Given the description of an element on the screen output the (x, y) to click on. 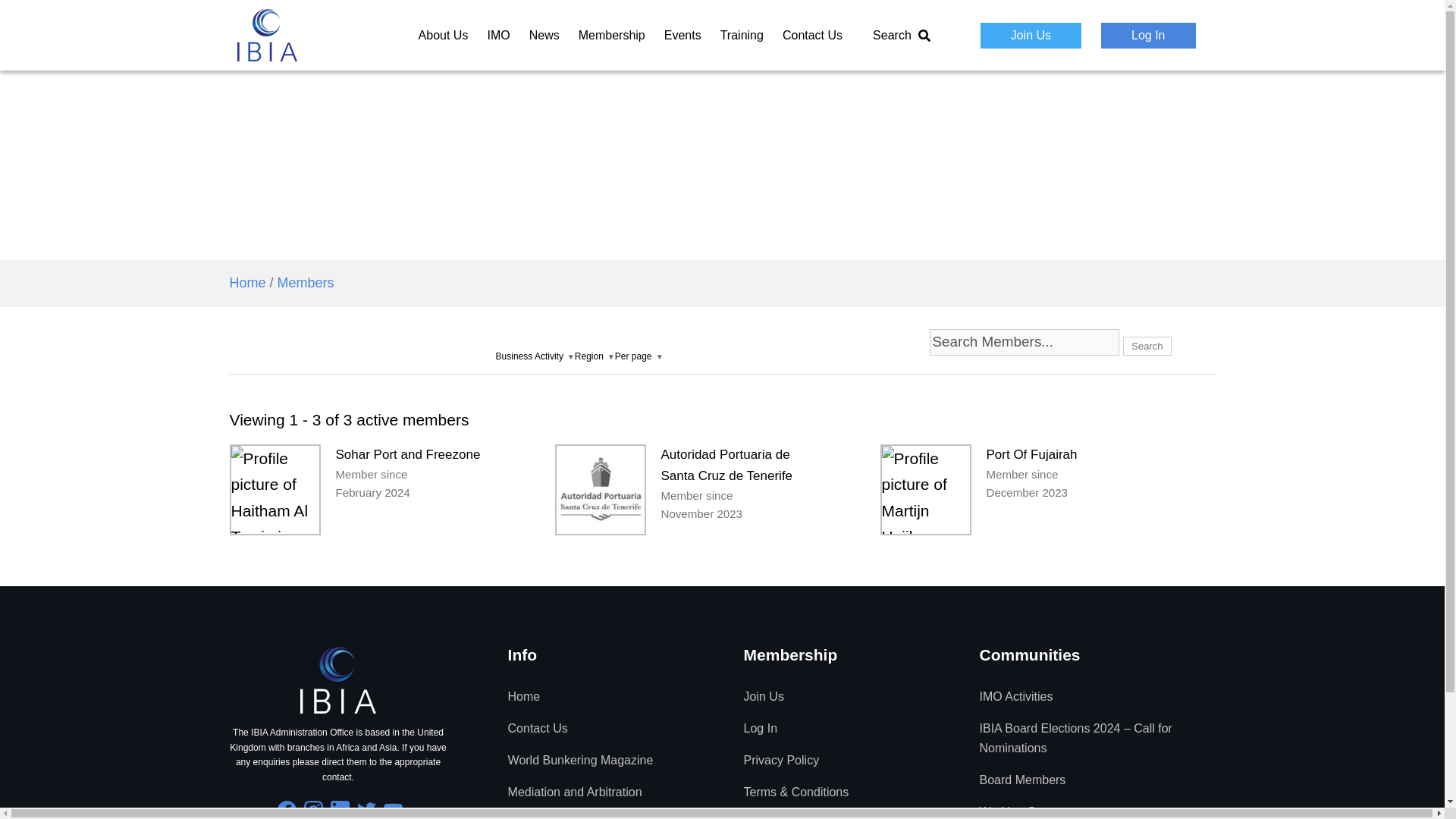
twitter (365, 809)
IMO (497, 35)
youtube (393, 809)
Log In (1147, 35)
Events (682, 35)
Home (246, 282)
Membership (611, 35)
About Us (443, 35)
linkedin (339, 809)
instagram (313, 809)
Join Us (1030, 35)
Contact Us (813, 35)
News (544, 35)
Search   (901, 35)
Submit (1050, 87)
